Given the description of an element on the screen output the (x, y) to click on. 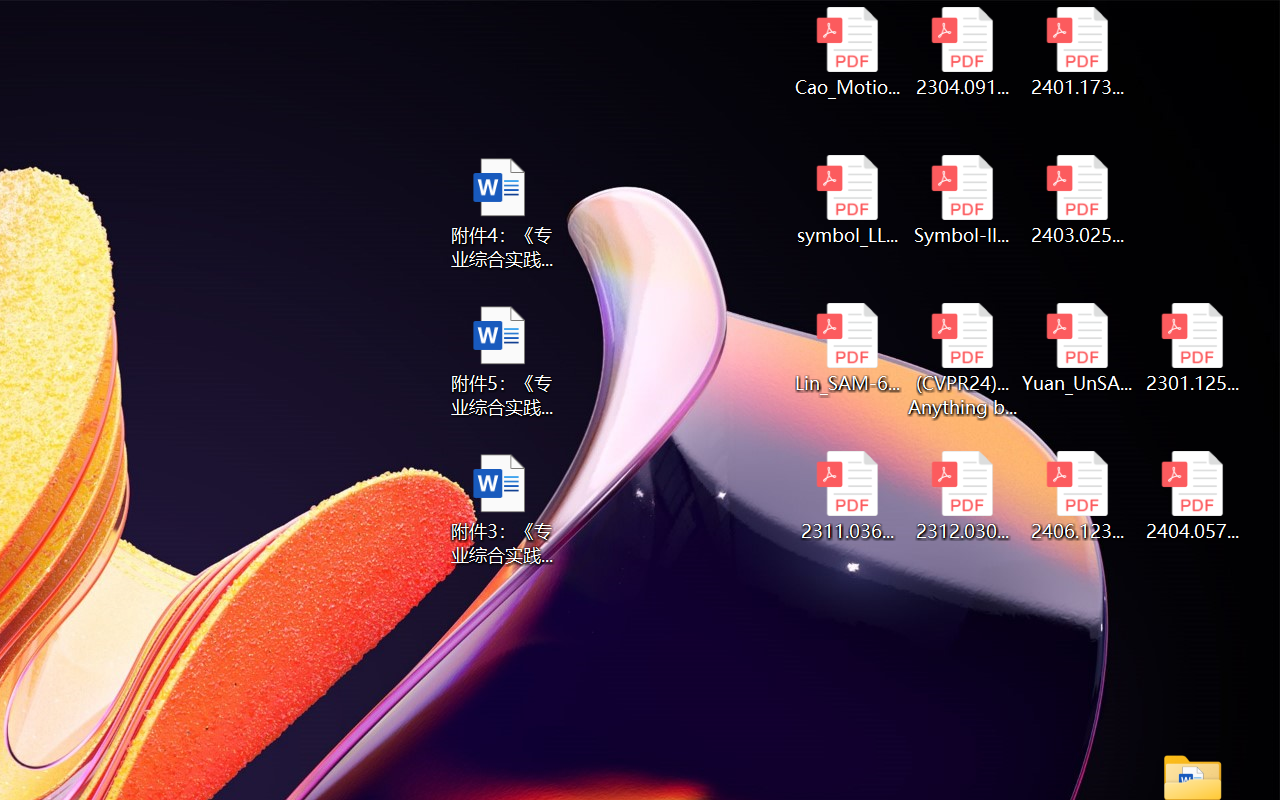
2403.02502v1.pdf (1077, 200)
(CVPR24)Matching Anything by Segmenting Anything.pdf (962, 360)
symbol_LLM.pdf (846, 200)
2404.05719v1.pdf (1192, 496)
Symbol-llm-v2.pdf (962, 200)
2406.12373v2.pdf (1077, 496)
2304.09121v3.pdf (962, 52)
2301.12597v3.pdf (1192, 348)
2401.17399v1.pdf (1077, 52)
